Given the description of an element on the screen output the (x, y) to click on. 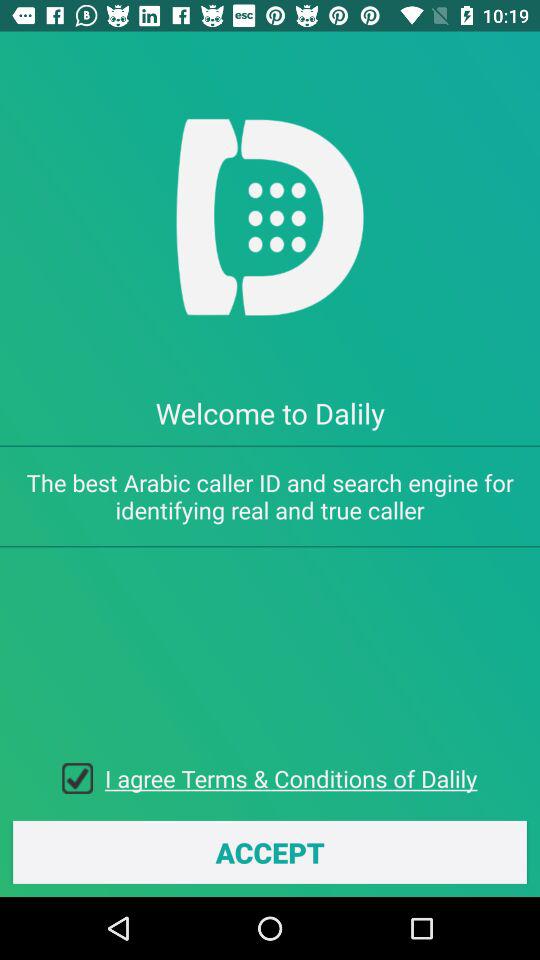
open item above accept (291, 778)
